Given the description of an element on the screen output the (x, y) to click on. 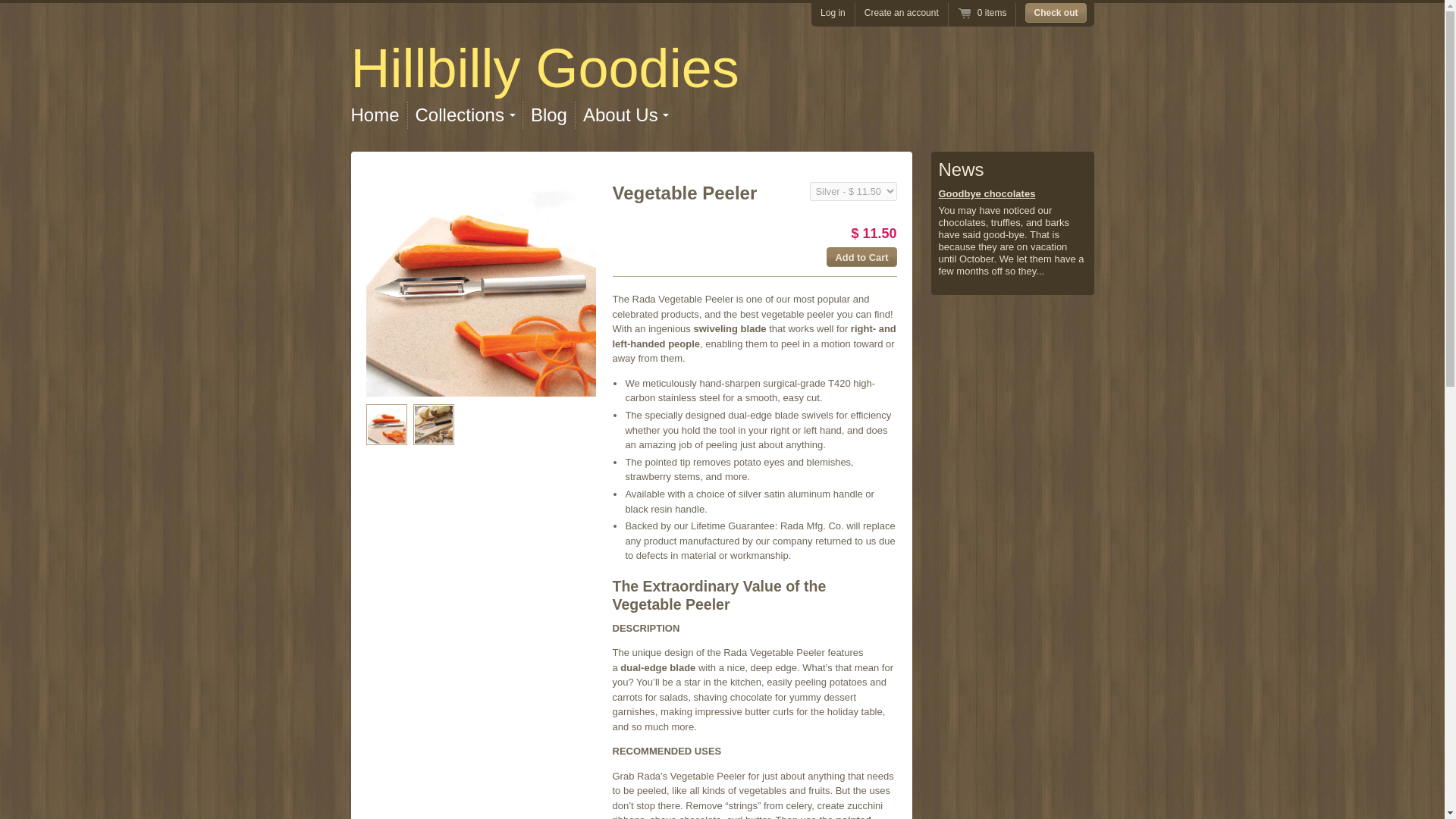
Home (544, 67)
About Us (626, 114)
Add to Cart (861, 256)
Home (374, 114)
Log in (833, 12)
Goodbye chocolates (987, 193)
Blog (548, 114)
Collections (464, 114)
Vegetable Peeler (480, 281)
Vegetable Peeler (432, 424)
0 items (982, 12)
Check out (1055, 12)
Hillbilly Goodies (544, 67)
Add to Cart (861, 256)
Create an account (901, 12)
